Given the description of an element on the screen output the (x, y) to click on. 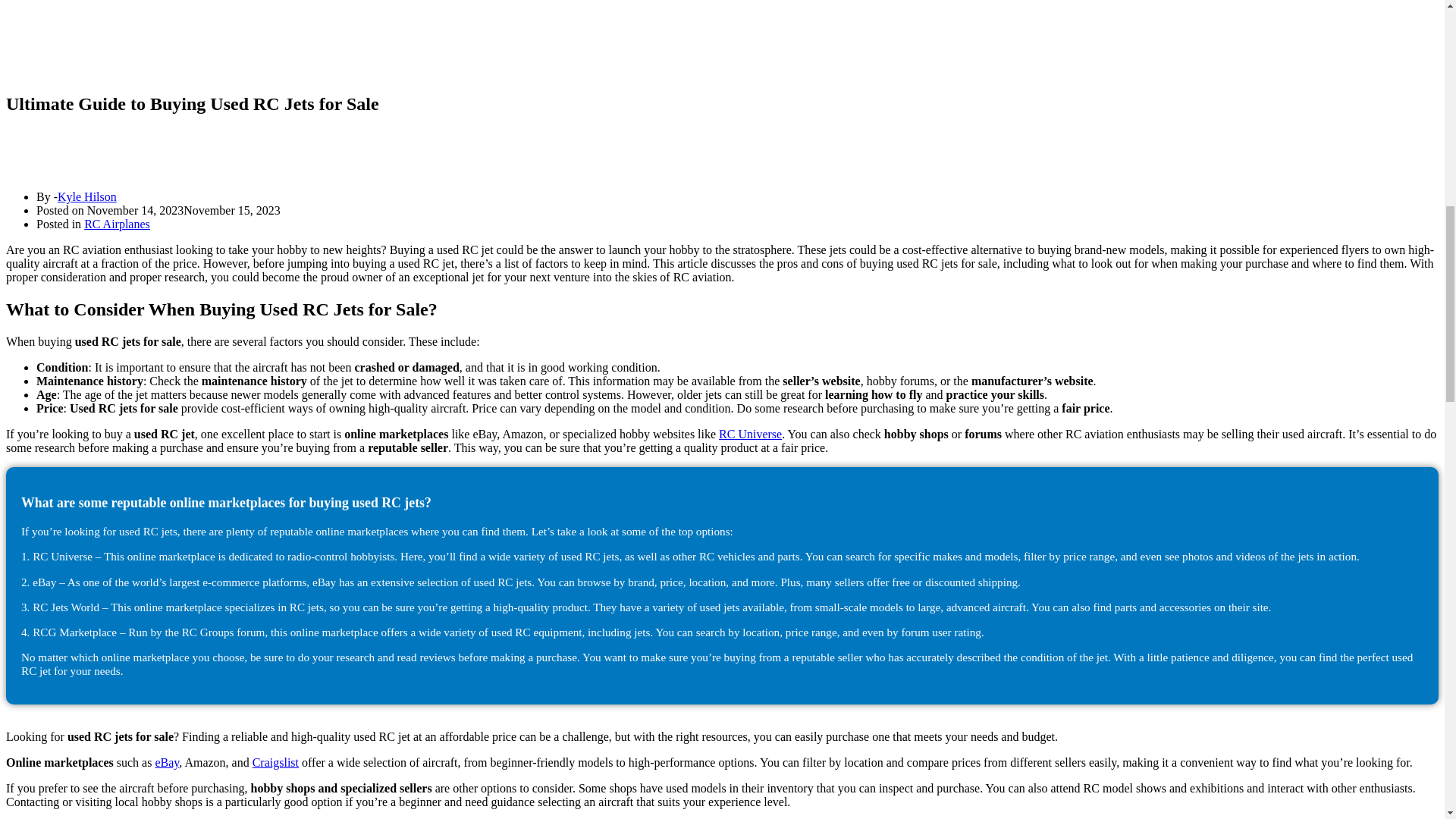
Craigslist (274, 762)
eBay (166, 762)
RC Universe (750, 433)
RC Airplanes (116, 223)
Kyle Hilson (87, 196)
